Given the description of an element on the screen output the (x, y) to click on. 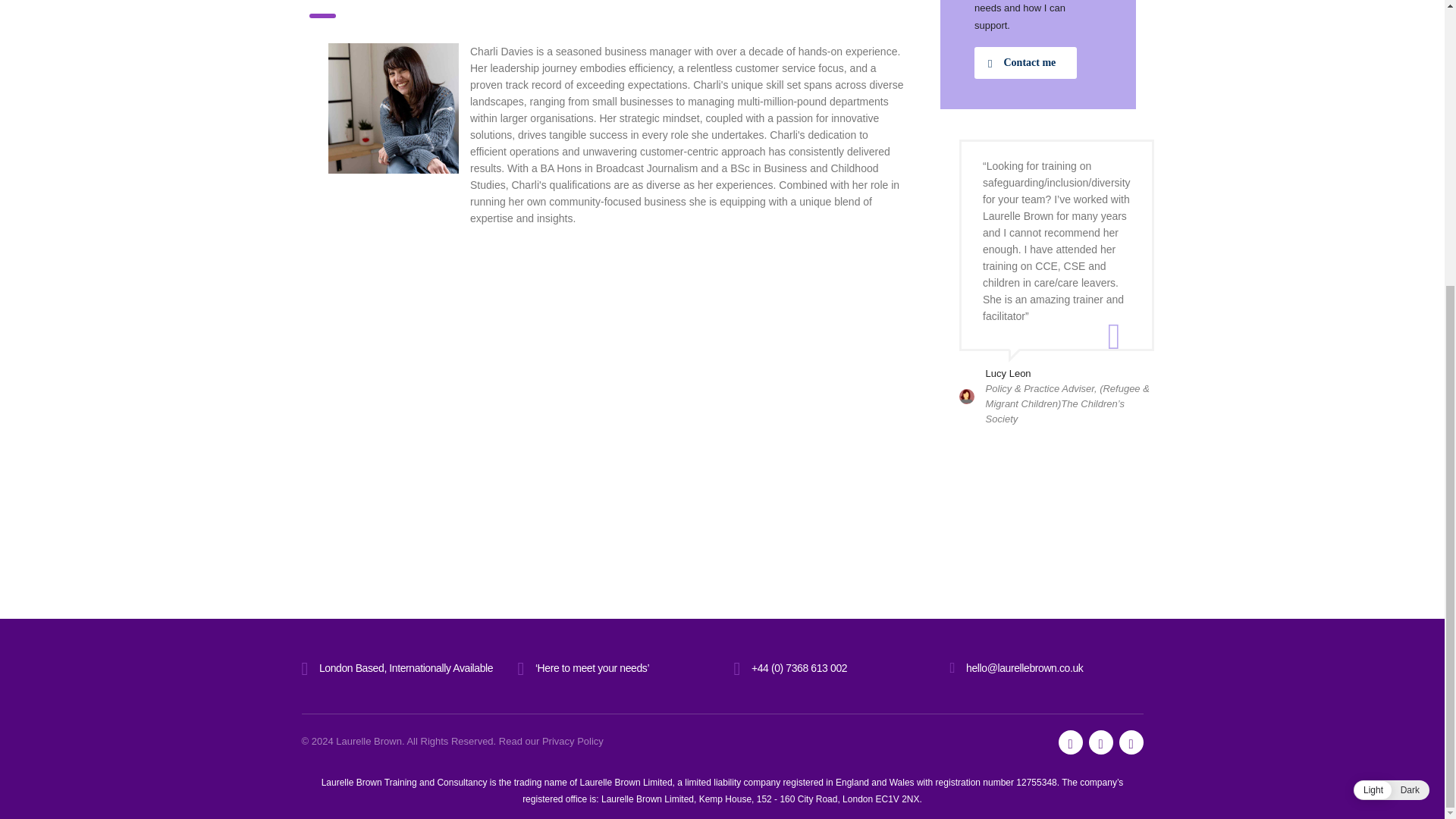
Read our Privacy Policy (551, 740)
Contact me (1025, 62)
